Given the description of an element on the screen output the (x, y) to click on. 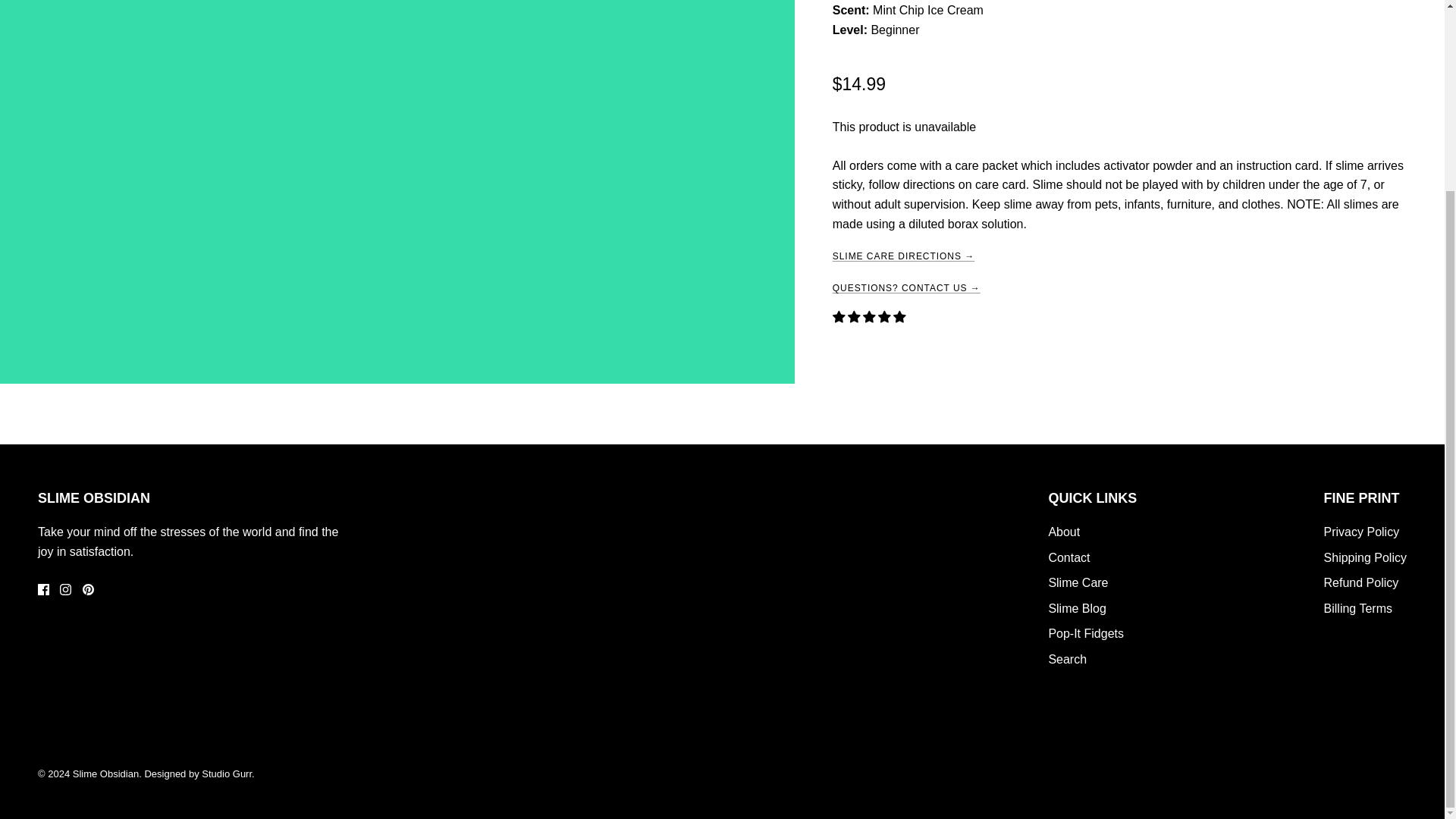
Facebook (43, 589)
Slime Care (1078, 582)
Pinterest (88, 589)
About (1064, 531)
Contact (1068, 557)
Pinterest (88, 589)
Slime Blog (1076, 608)
Facebook (43, 589)
Instagram (65, 589)
Instagram (65, 589)
